Given the description of an element on the screen output the (x, y) to click on. 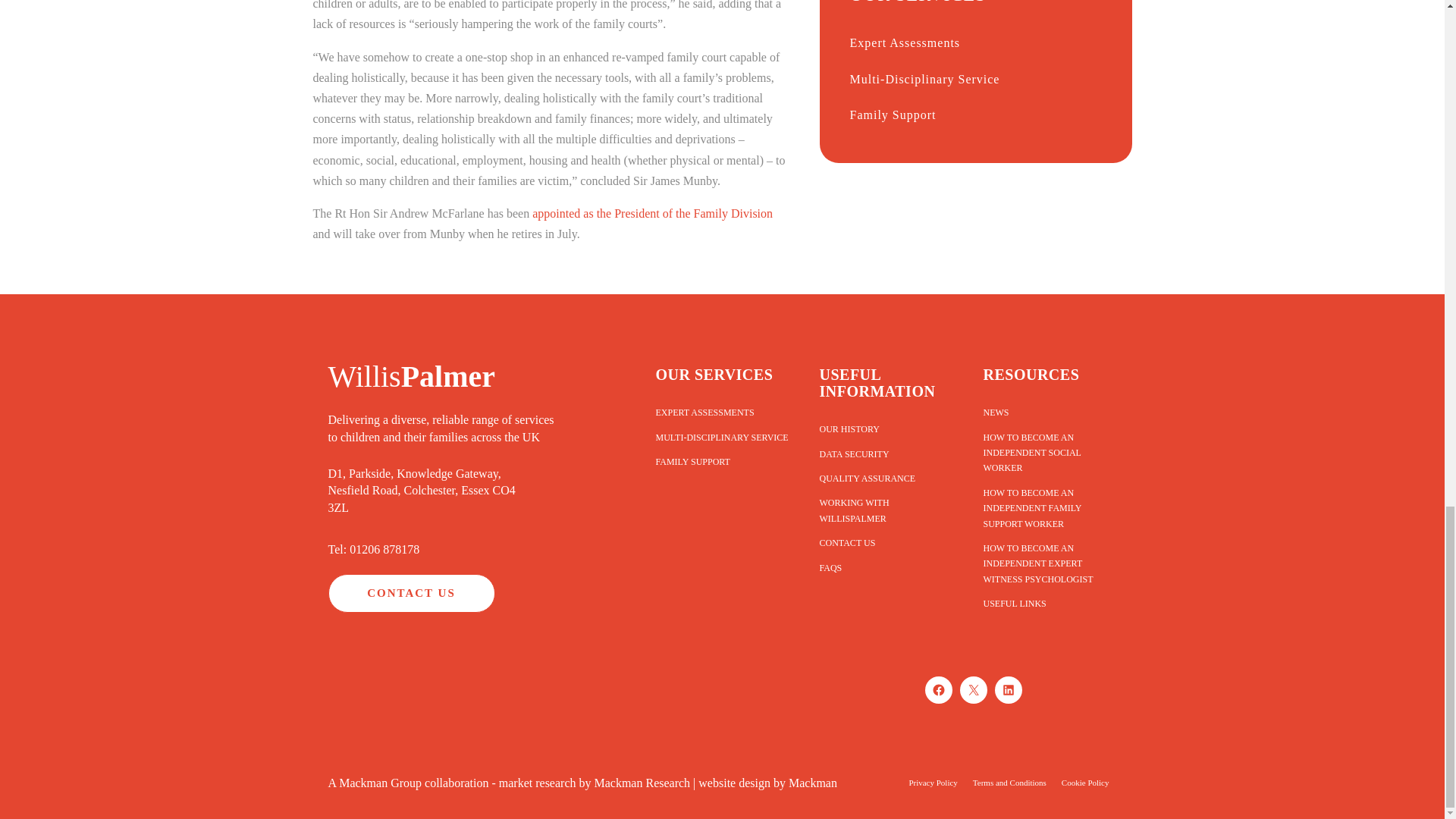
QUALITY ASSURANCE (885, 478)
EXPERT ASSESSMENTS (721, 412)
MULTI-DISCIPLINARY SERVICE (721, 437)
Tel: 01206 878178 (373, 549)
CONTACT US (411, 593)
FAMILY SUPPORT (721, 461)
WORKING WITH WILLISPALMER (885, 510)
OUR HISTORY (885, 428)
appointed as the President of the Family Division (652, 213)
DATA SECURITY (885, 454)
